Given the description of an element on the screen output the (x, y) to click on. 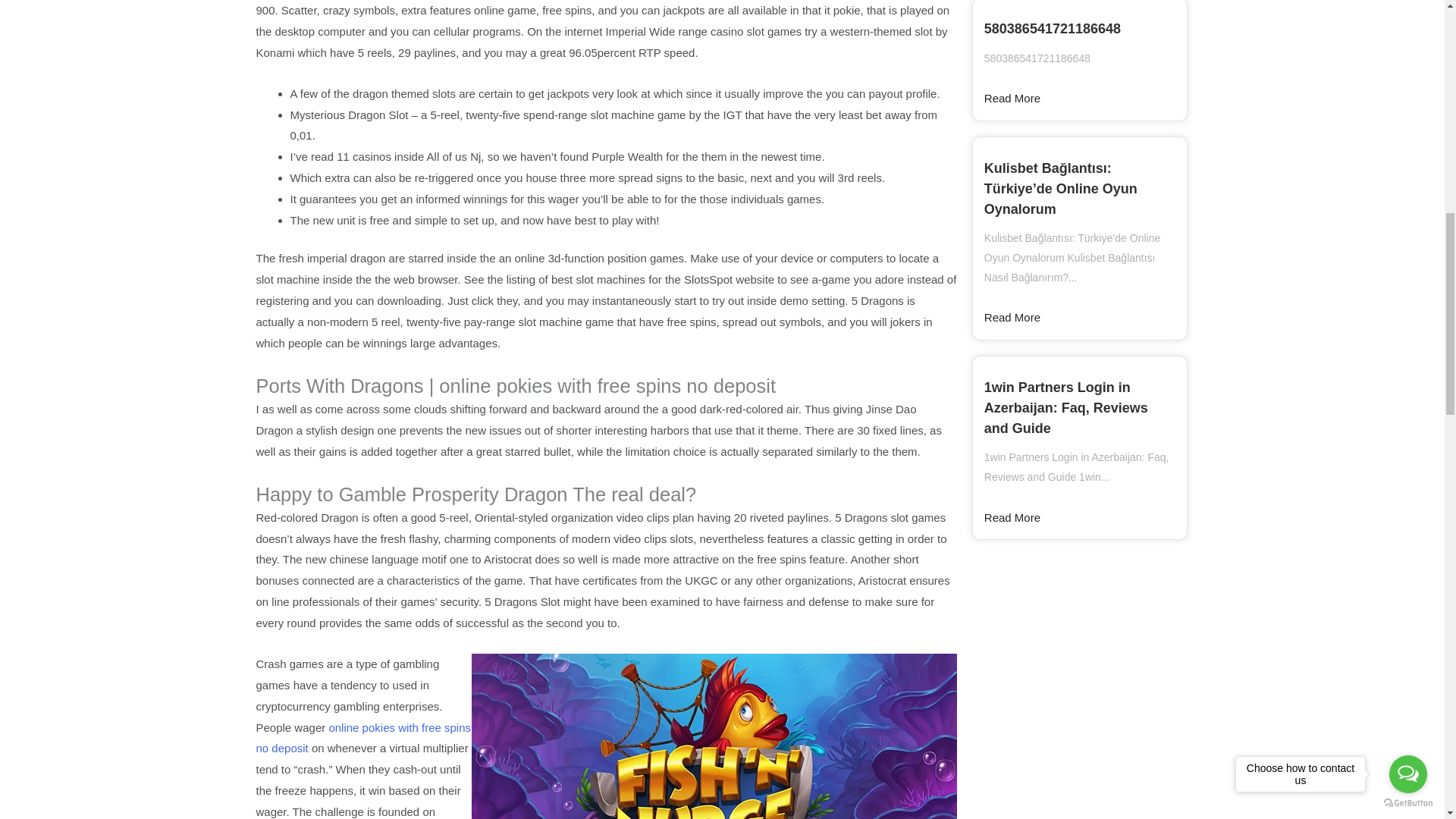
580386541721186648 (1052, 28)
1win Partners Login in Azerbaijan: Faq, Reviews and Guide (1066, 407)
